Given the description of an element on the screen output the (x, y) to click on. 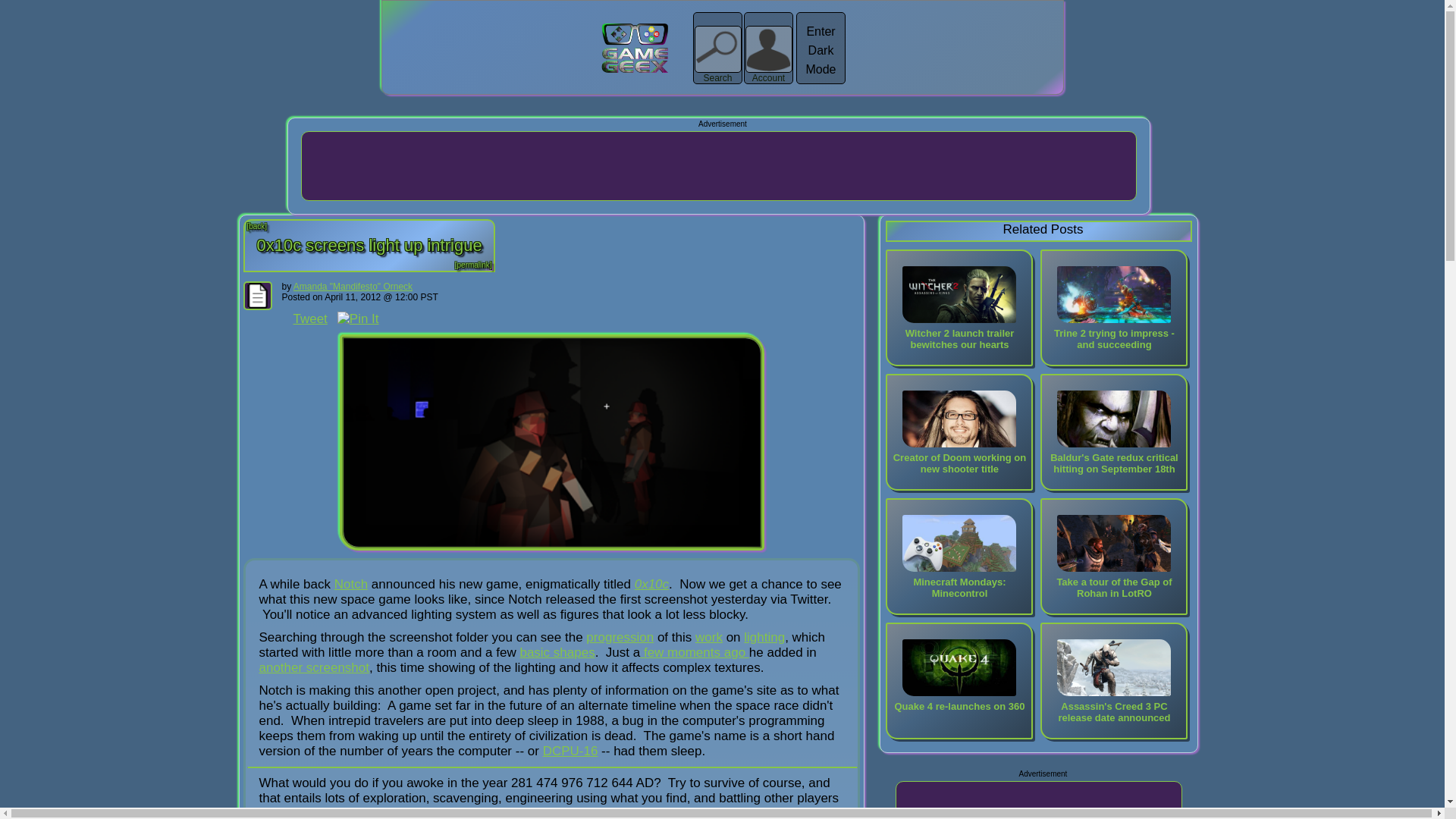
Login (480, 58)
lighting (764, 636)
another screenshot (314, 667)
Tweet (309, 318)
0x10c (651, 584)
Amanda "Mandifesto" Orneck (353, 286)
Advertisement (1038, 800)
Lost Password? (544, 75)
search (1054, 61)
Quake 4-2? (959, 667)
work (708, 636)
0x10c screens light up intrigue (368, 251)
few moments ago (694, 652)
WolfenQuake: Doom 3D? (959, 418)
